Given the description of an element on the screen output the (x, y) to click on. 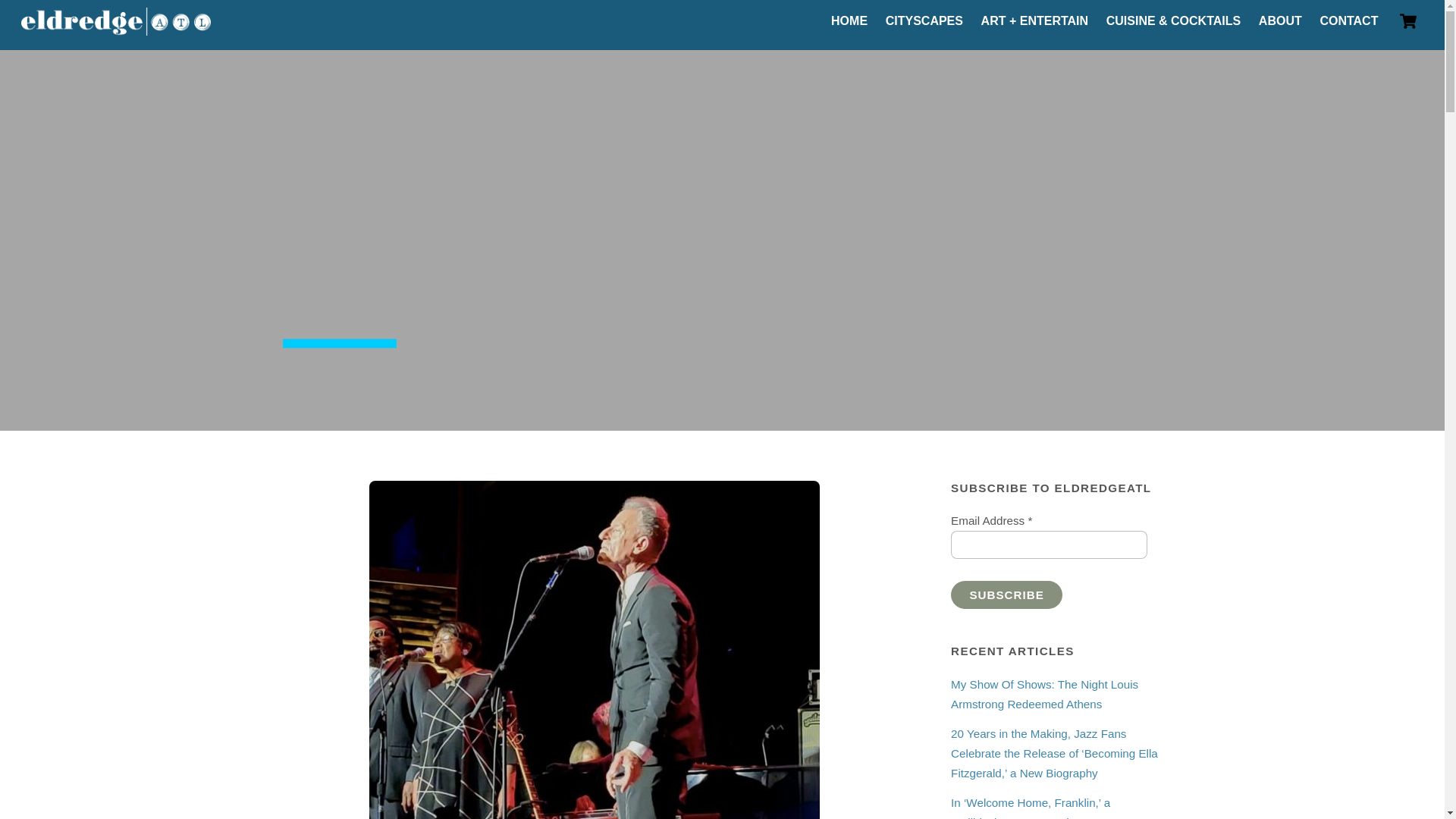
CITYSCAPES (923, 21)
HOME (849, 21)
Eldredge Atlanta (116, 28)
CONTACT (1349, 21)
Subscribe (1006, 594)
Cart (1408, 20)
ABOUT (1279, 21)
